Given the description of an element on the screen output the (x, y) to click on. 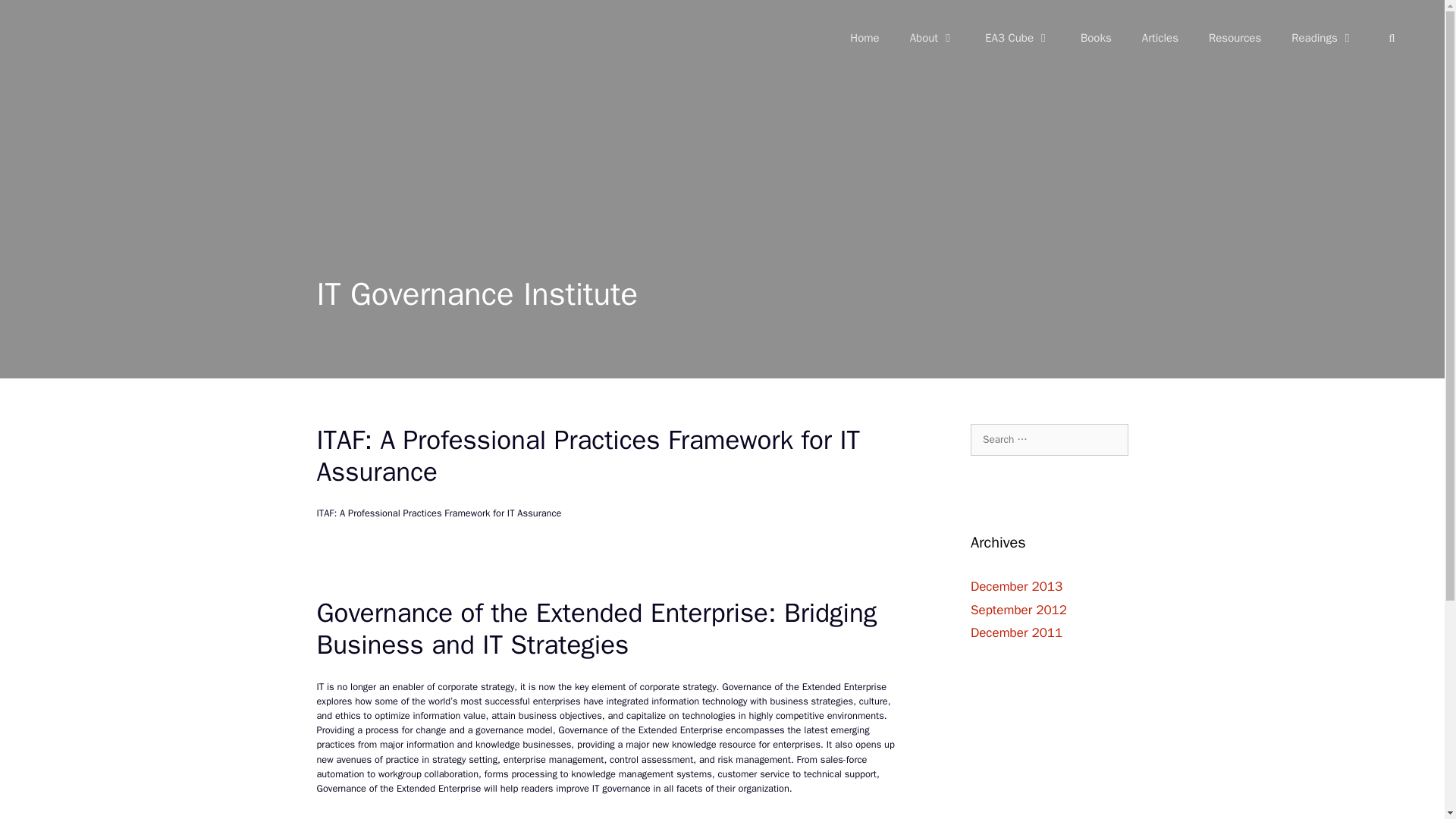
Home (863, 37)
Search for: (1049, 439)
EA3 Cube (1017, 37)
Books (1095, 37)
Resources (1234, 37)
Readings (1323, 37)
About (932, 37)
Articles (1159, 37)
